Given the description of an element on the screen output the (x, y) to click on. 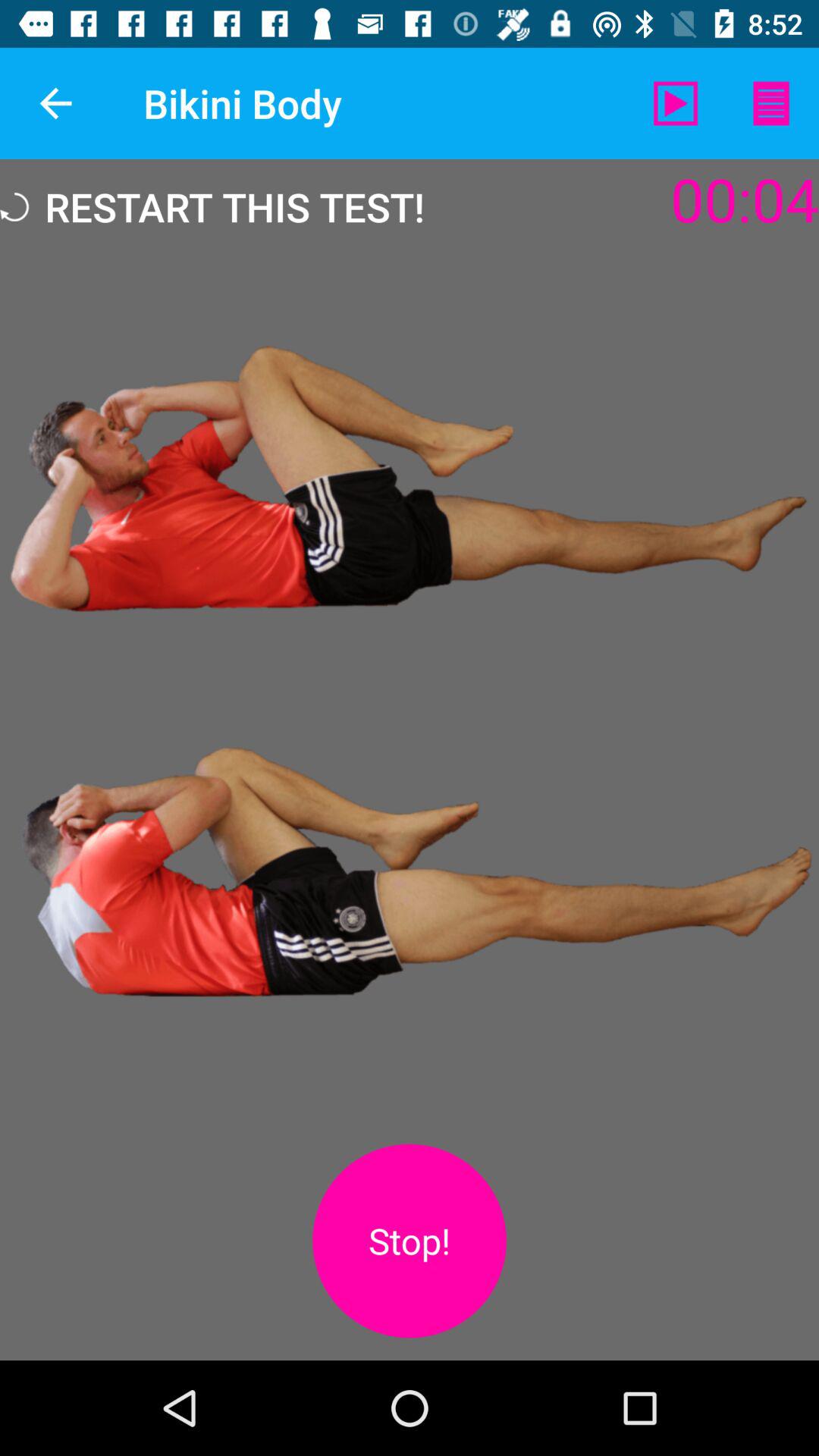
click the icon next to the restart this test! icon (675, 103)
